Given the description of an element on the screen output the (x, y) to click on. 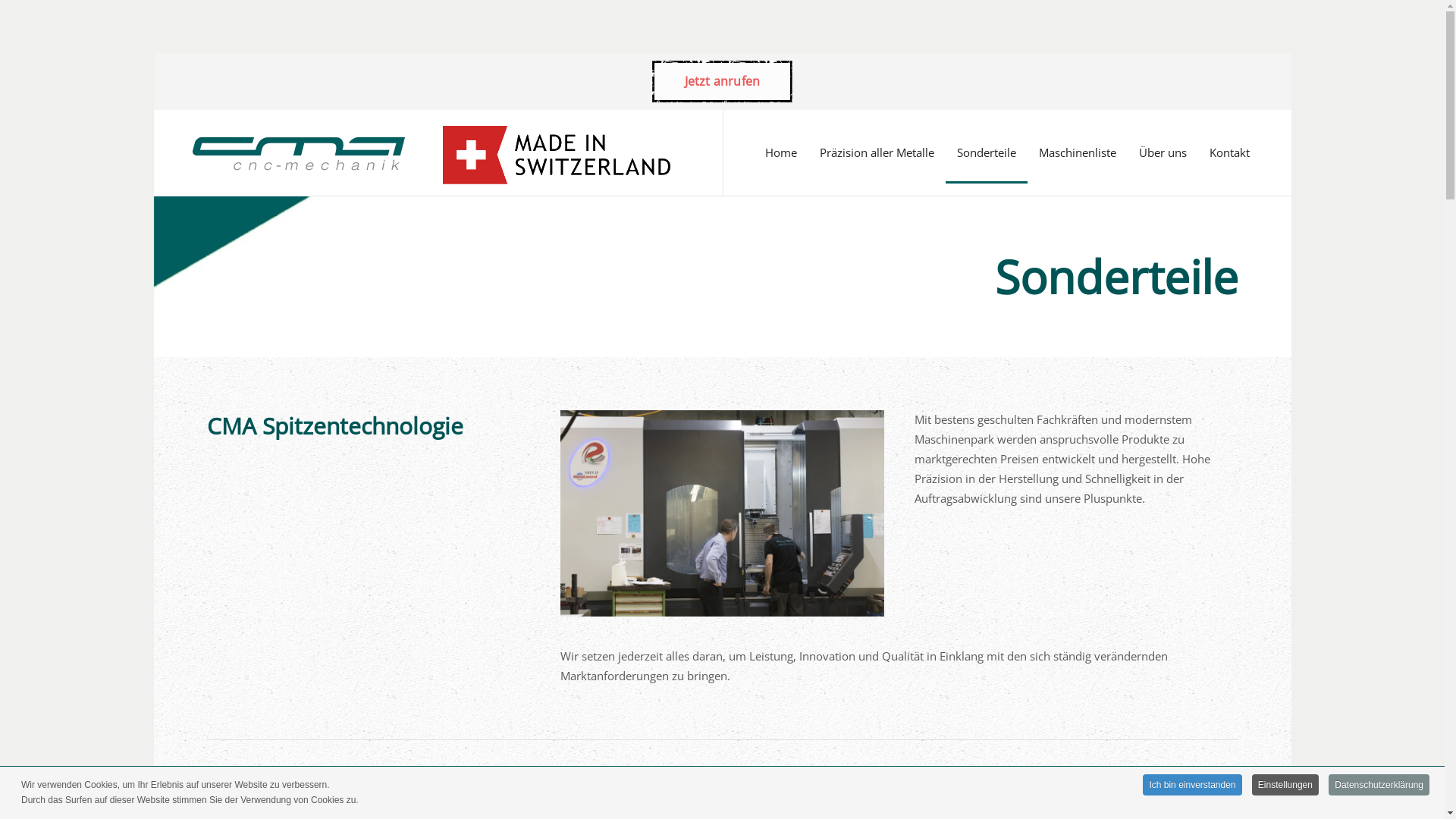
made in Switzerland Element type: hover (556, 152)
Cookies ablehnen Element type: text (727, 589)
Jetzt anrufen Element type: text (722, 81)
1 Element type: text (680, 329)
Einstellungen Element type: text (1285, 784)
Einstellungen speichern Element type: text (886, 589)
Alle Cookies erlauben Element type: text (568, 589)
Kontakt Element type: text (1229, 152)
Ich bin einverstanden Element type: text (1191, 784)
Sonderteile Element type: text (985, 152)
Home Element type: text (780, 152)
Maschinenliste Element type: text (1076, 152)
